Given the description of an element on the screen output the (x, y) to click on. 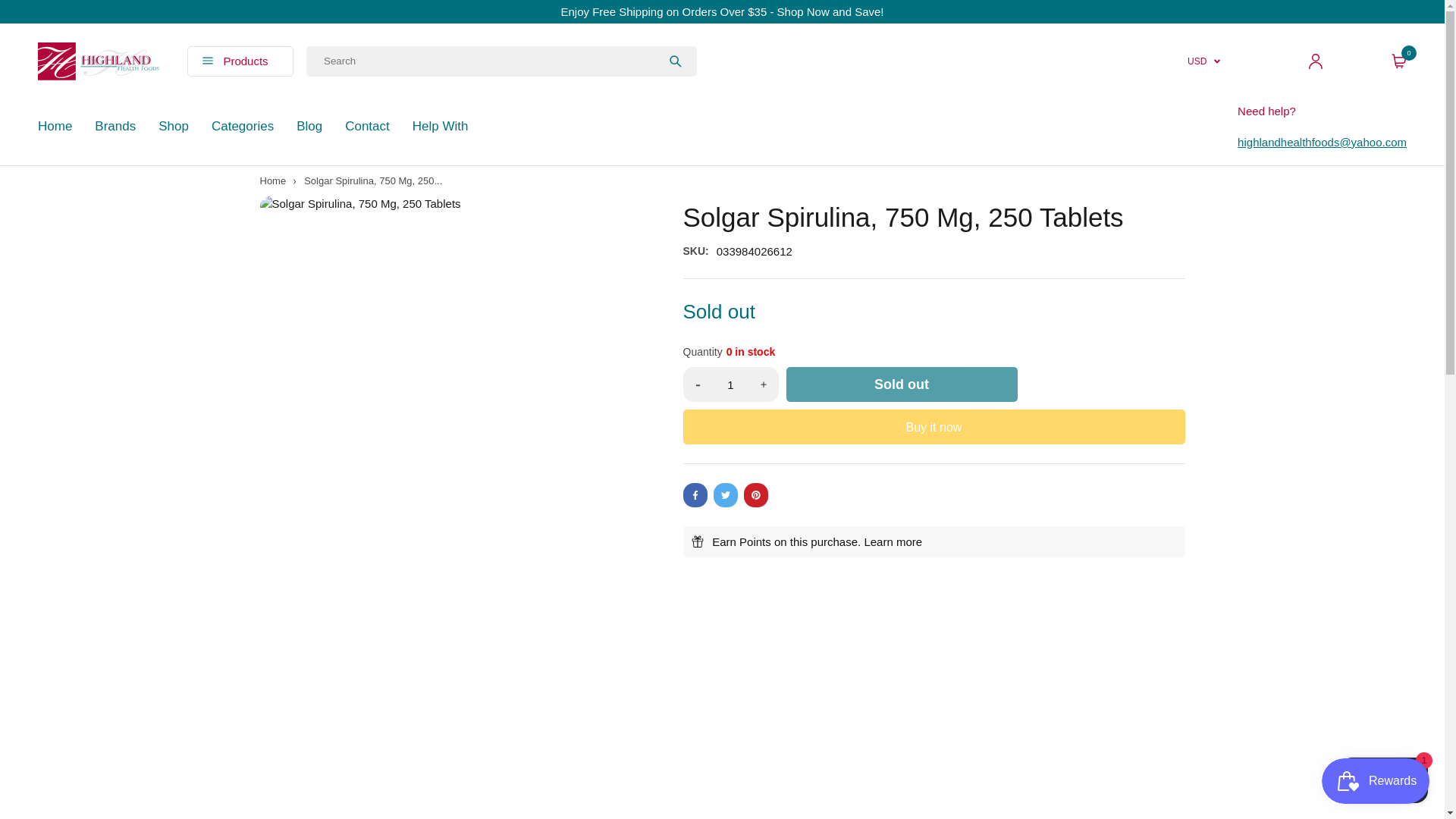
Categories (242, 125)
Home (54, 125)
Home (272, 180)
Brands (114, 125)
Buy it now (933, 426)
Blog (309, 125)
Products (250, 60)
Your Cart (1398, 61)
Contact (367, 125)
Contact (367, 125)
Brands (114, 125)
Shop (173, 125)
Learn more (892, 541)
Contact (1321, 141)
Help With (440, 125)
